Given the description of an element on the screen output the (x, y) to click on. 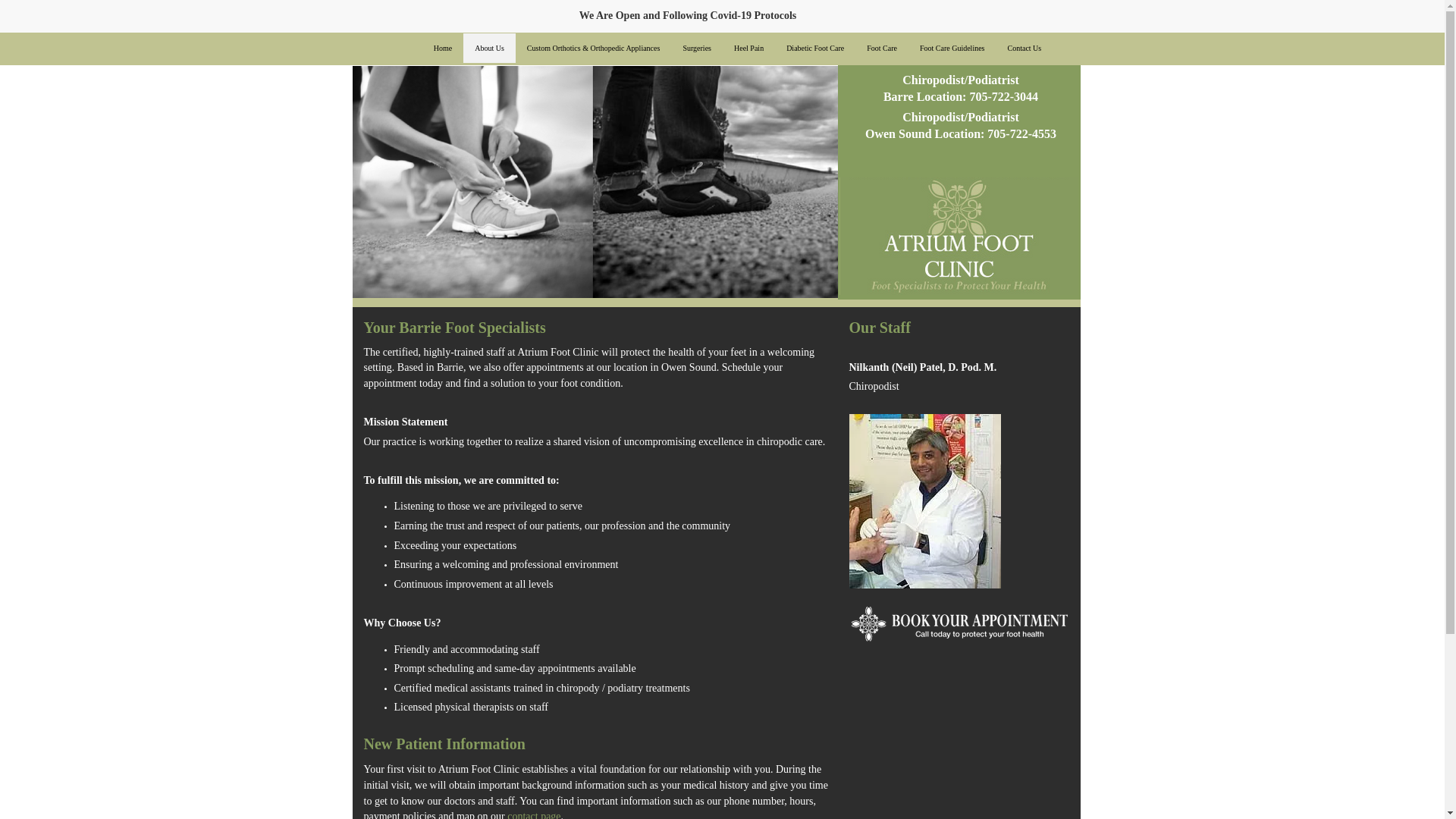
Embedded Content (1063, 20)
About Us (489, 49)
Diabetic Foot Care (815, 49)
705-722-3044 (1003, 96)
Heel Pain (748, 49)
Foot Care (882, 49)
Contact Us (1023, 49)
705-722-4553 (1022, 133)
Embedded Content (983, 16)
Foot Care Guidelines (951, 49)
contact page (533, 814)
Home (442, 49)
Surgeries (696, 49)
